Given the description of an element on the screen output the (x, y) to click on. 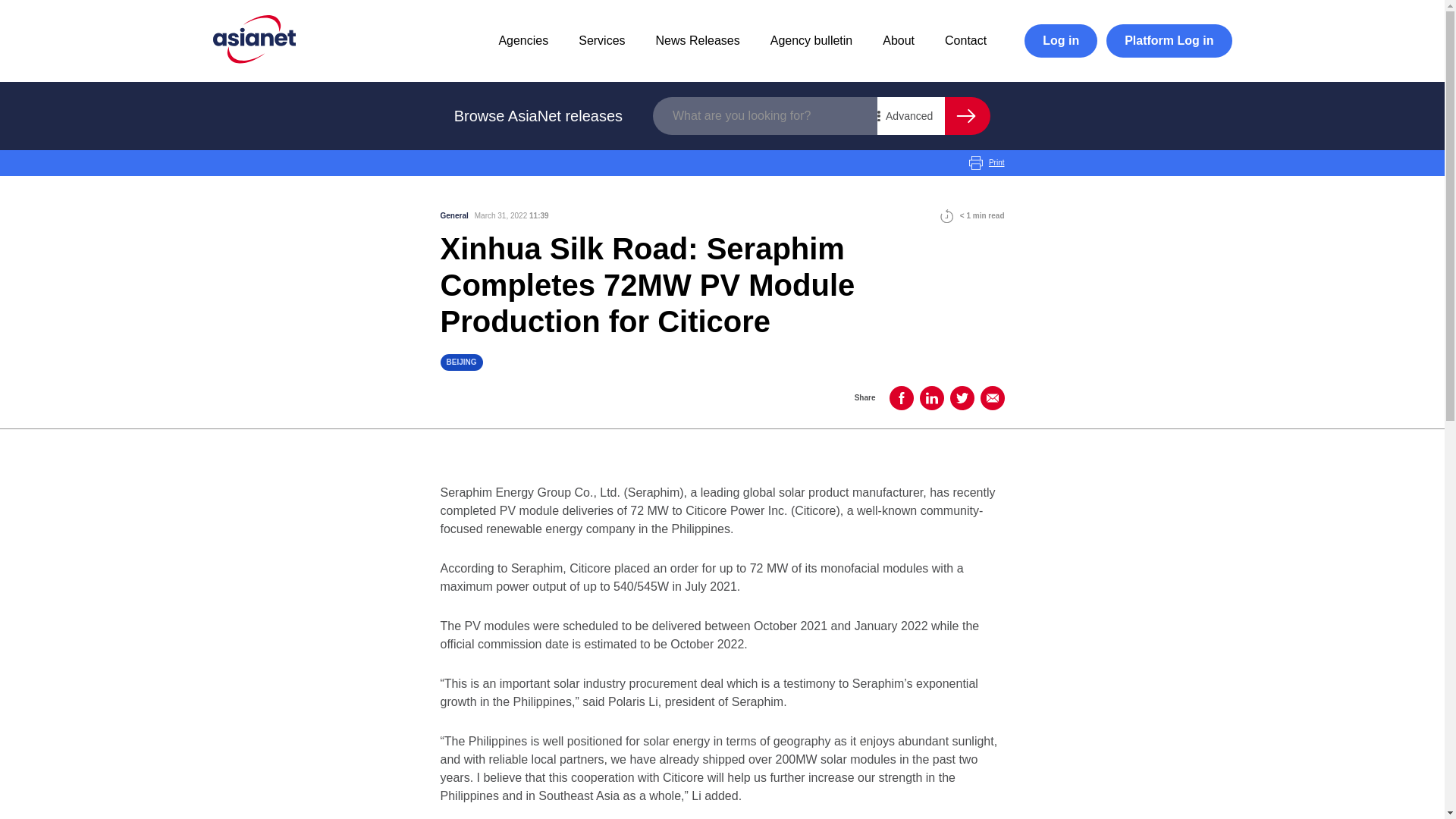
Log in (1061, 40)
Share using Email (991, 397)
News Releases (697, 40)
Share on LinkedIn (930, 397)
Agency bulletin (811, 40)
Share on Twitter (961, 397)
Contact (965, 40)
Advanced (910, 116)
Share on Facebook (900, 397)
Print (986, 162)
